Given the description of an element on the screen output the (x, y) to click on. 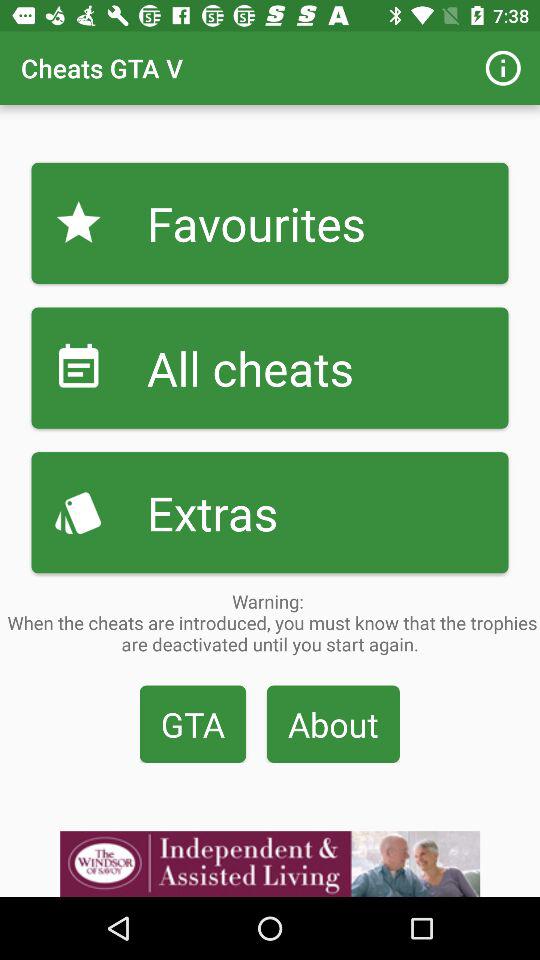
click on advertisement (270, 864)
